Given the description of an element on the screen output the (x, y) to click on. 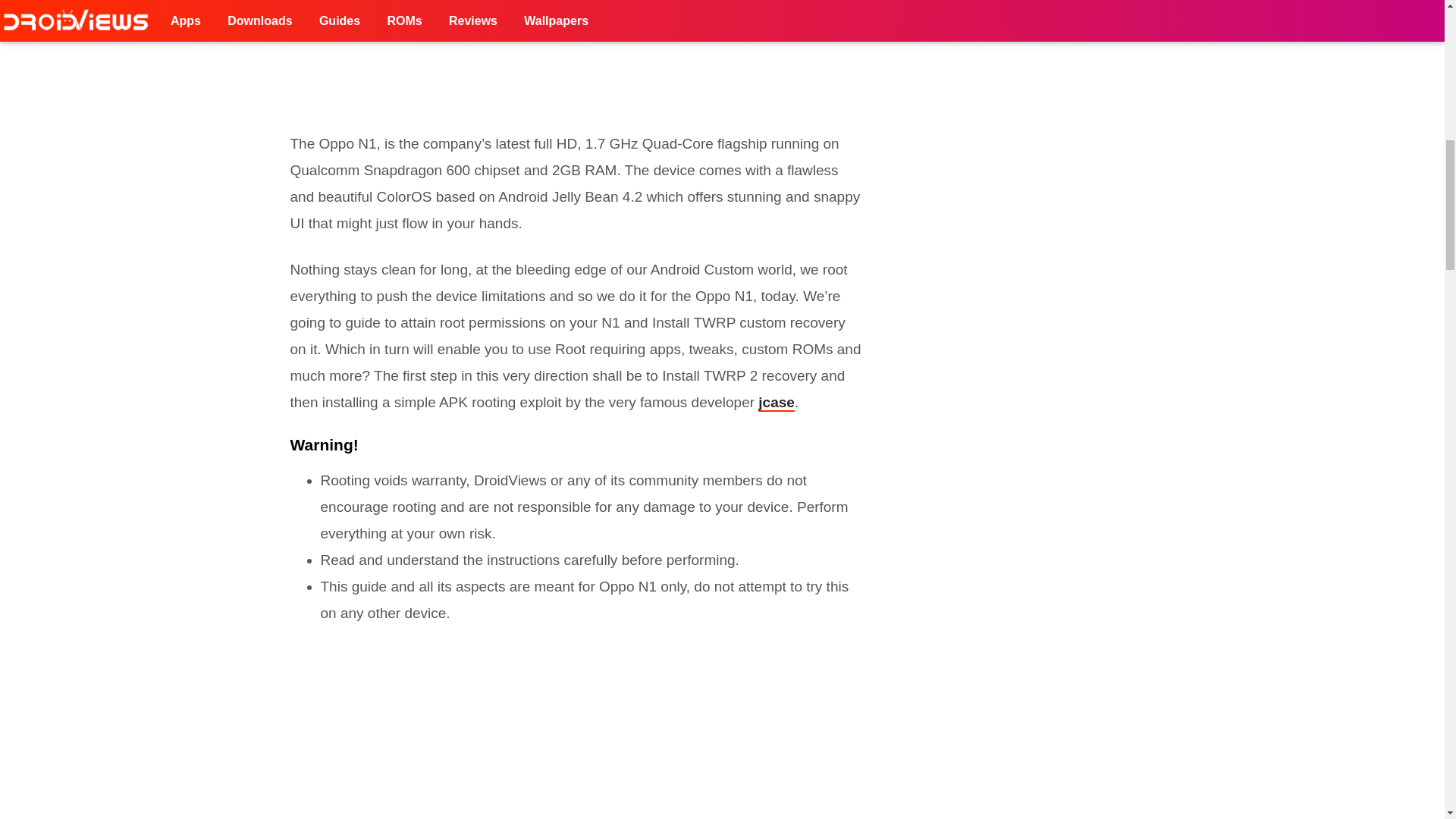
jcase (776, 402)
